Given the description of an element on the screen output the (x, y) to click on. 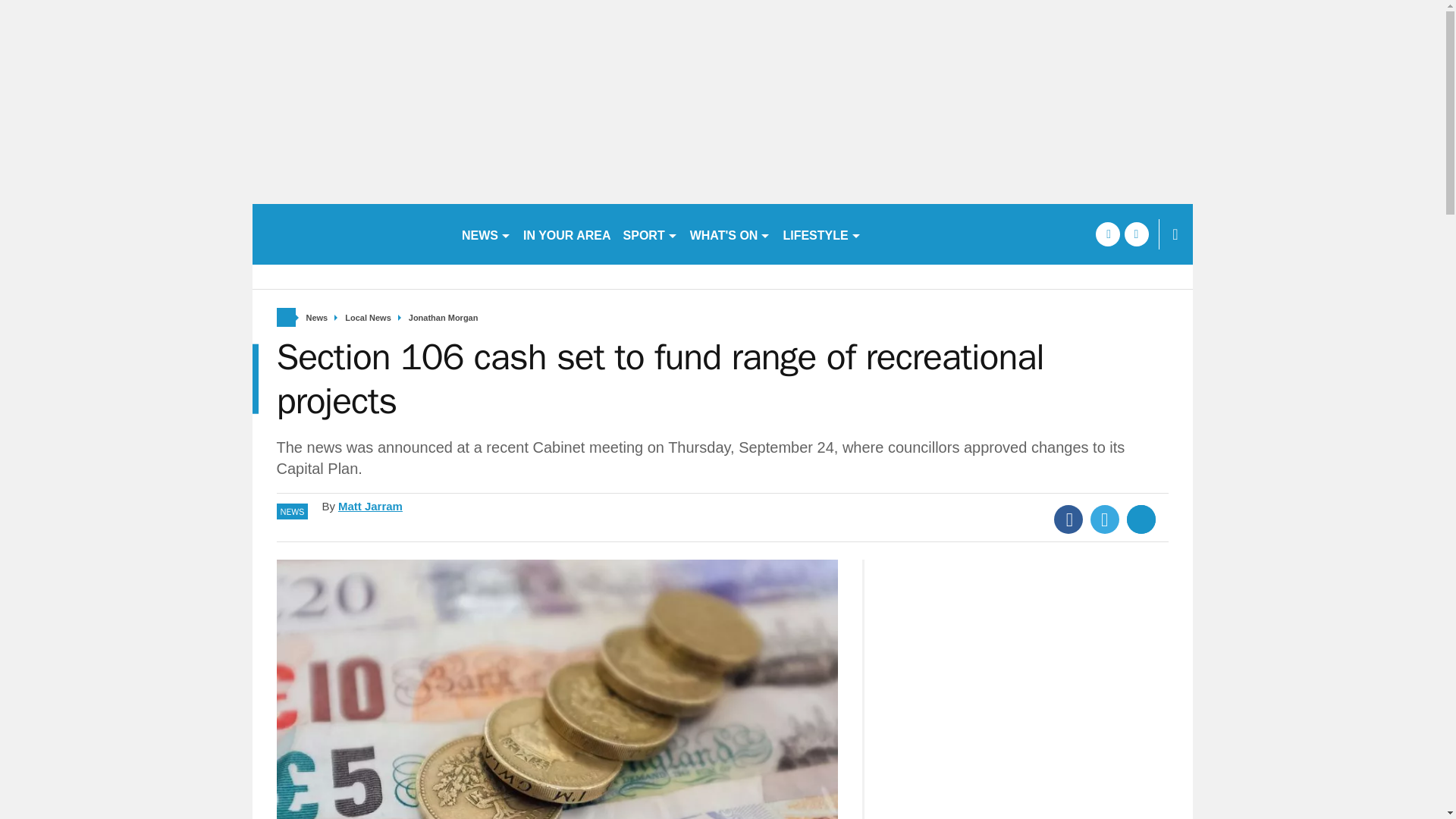
WHAT'S ON (730, 233)
Facebook (1068, 519)
twitter (1136, 233)
IN YOUR AREA (566, 233)
LIFESTYLE (821, 233)
loughborough (349, 233)
facebook (1106, 233)
Twitter (1104, 519)
NEWS (485, 233)
SPORT (650, 233)
